Given the description of an element on the screen output the (x, y) to click on. 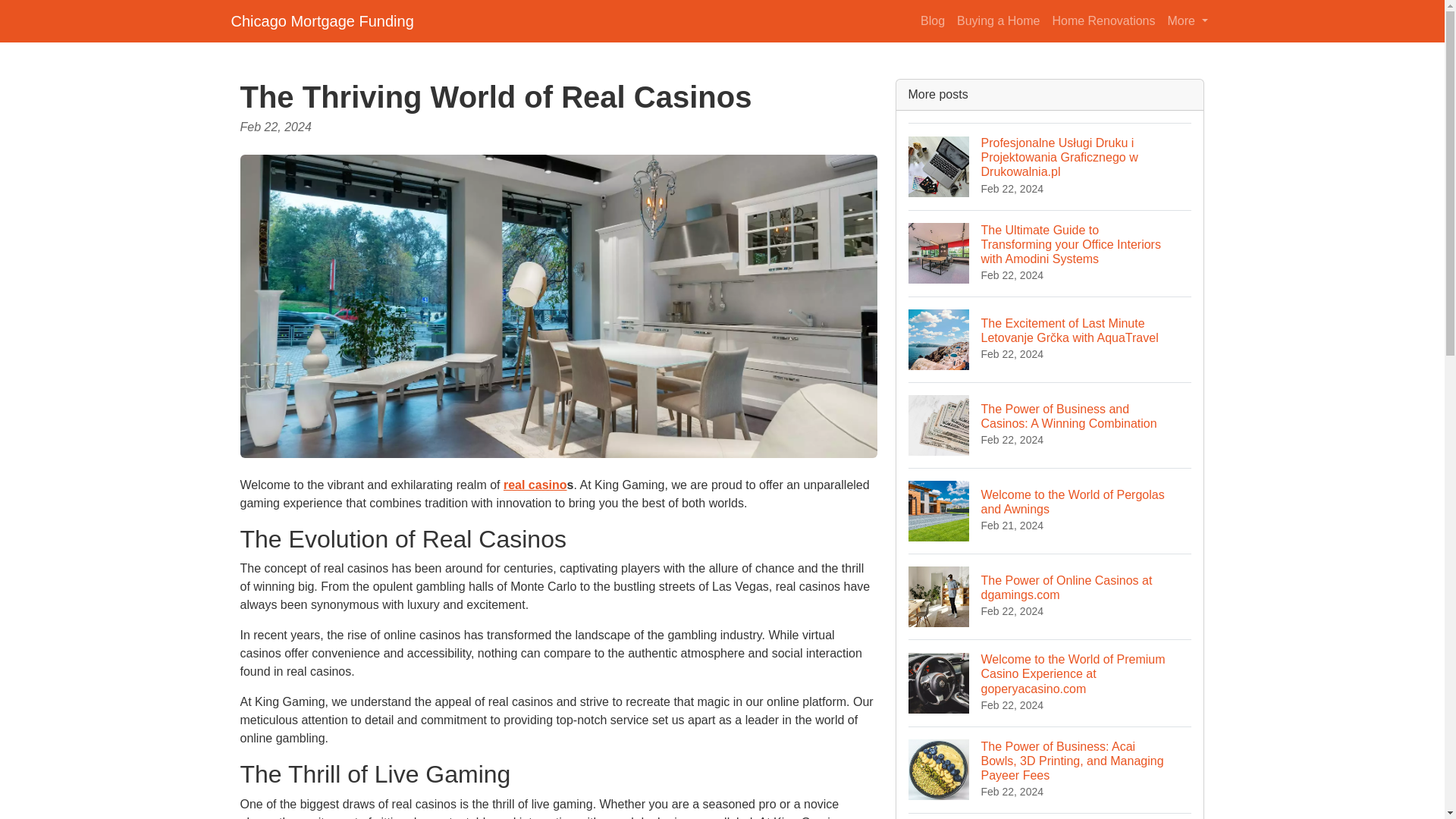
Buying a Home (997, 20)
real casino (535, 484)
Blog (932, 20)
More (1187, 20)
Home Renovations (1050, 510)
Chicago Mortgage Funding (1050, 596)
